Given the description of an element on the screen output the (x, y) to click on. 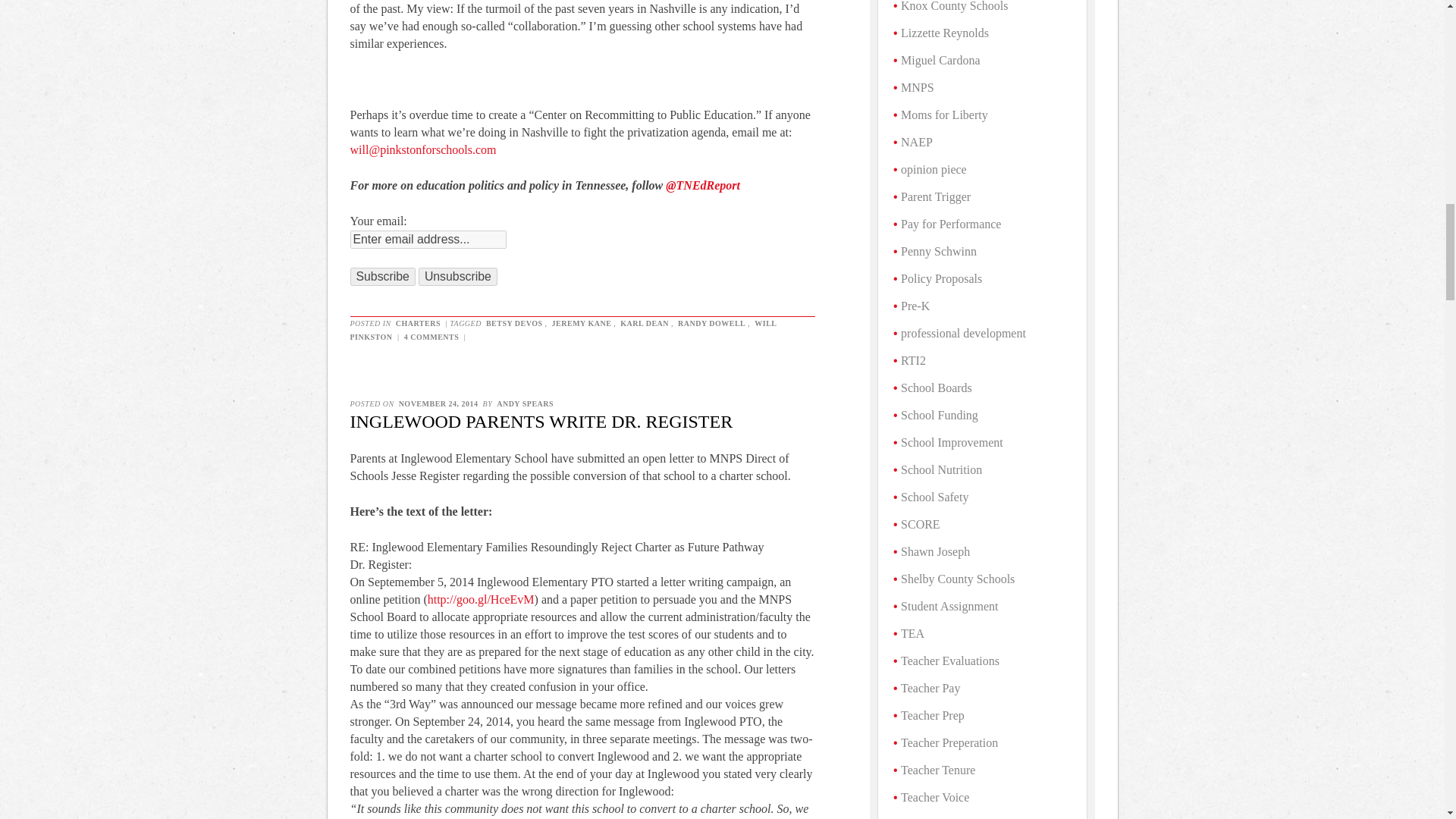
Unsubscribe (458, 276)
Permalink to Inglewood Parents Write Dr. Register (541, 421)
Unsubscribe (458, 276)
WILL PINKSTON (563, 330)
4 COMMENTS (431, 336)
KARL DEAN (644, 323)
JEREMY KANE (582, 323)
ANDY SPEARS (525, 403)
12:01 pm (438, 403)
Subscribe (382, 276)
Subscribe (382, 276)
BETSY DEVOS (513, 323)
CHARTERS (417, 323)
RANDY DOWELL (711, 323)
Enter email address... (428, 239)
